Given the description of an element on the screen output the (x, y) to click on. 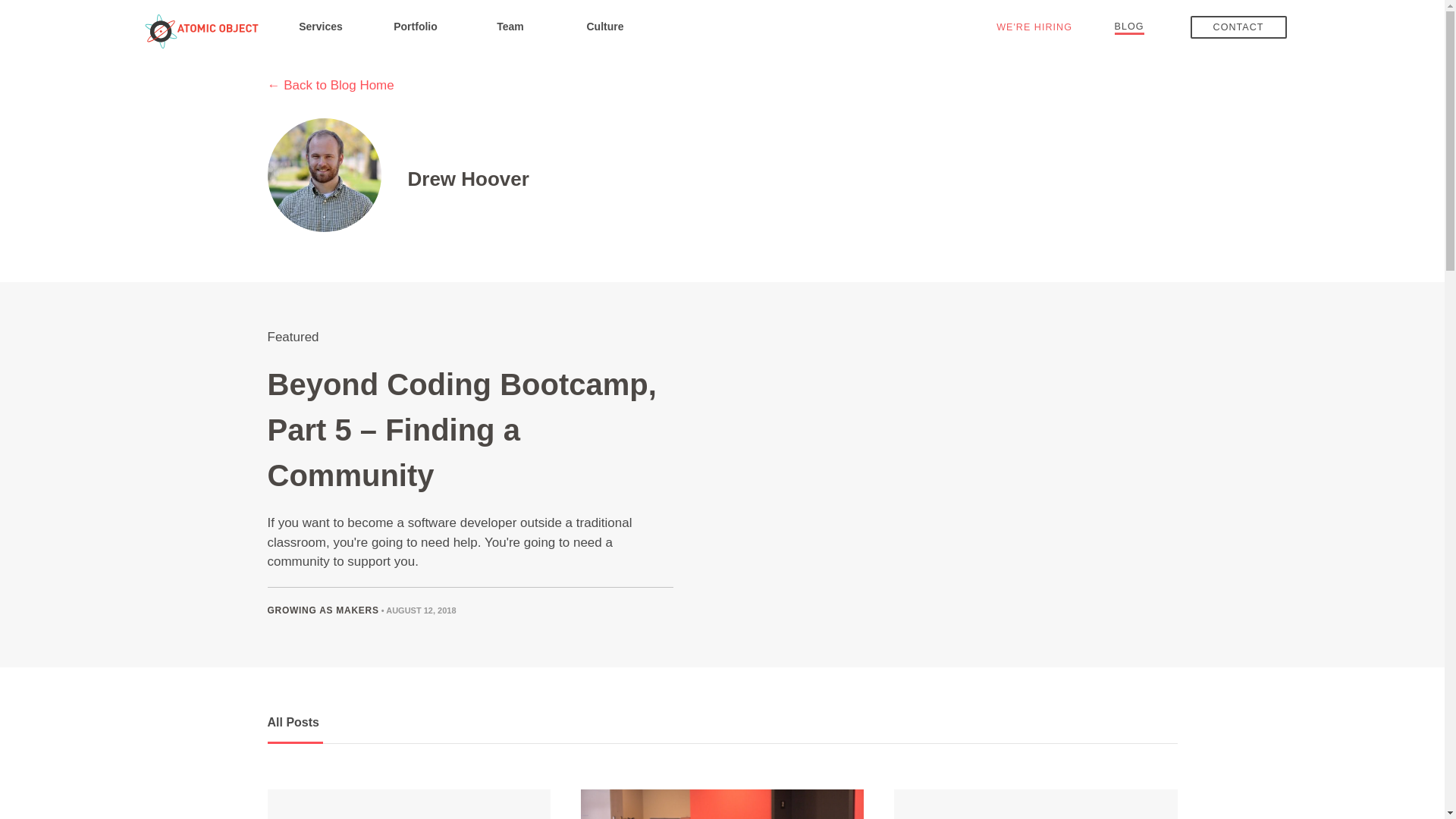
GROWING AS MAKERS (322, 610)
Culture (605, 26)
Team (510, 26)
Services (320, 26)
Drew Hoover (468, 180)
CONTACT (1239, 26)
Portfolio (415, 26)
WE'RE HIRING (1033, 27)
BLOG (1129, 26)
